Given the description of an element on the screen output the (x, y) to click on. 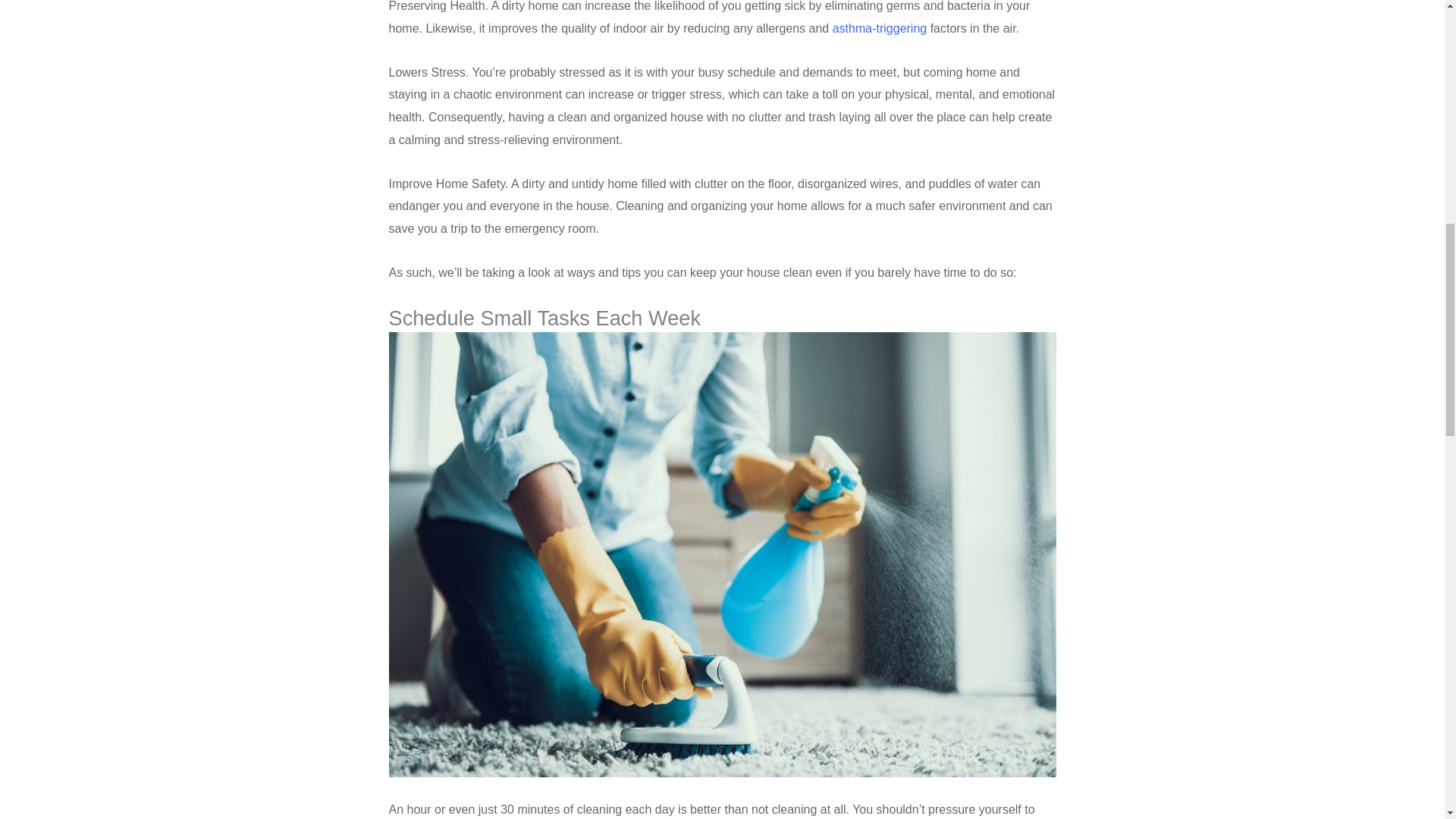
asthma-triggering (879, 28)
ACAAI Public Website (879, 28)
